Given the description of an element on the screen output the (x, y) to click on. 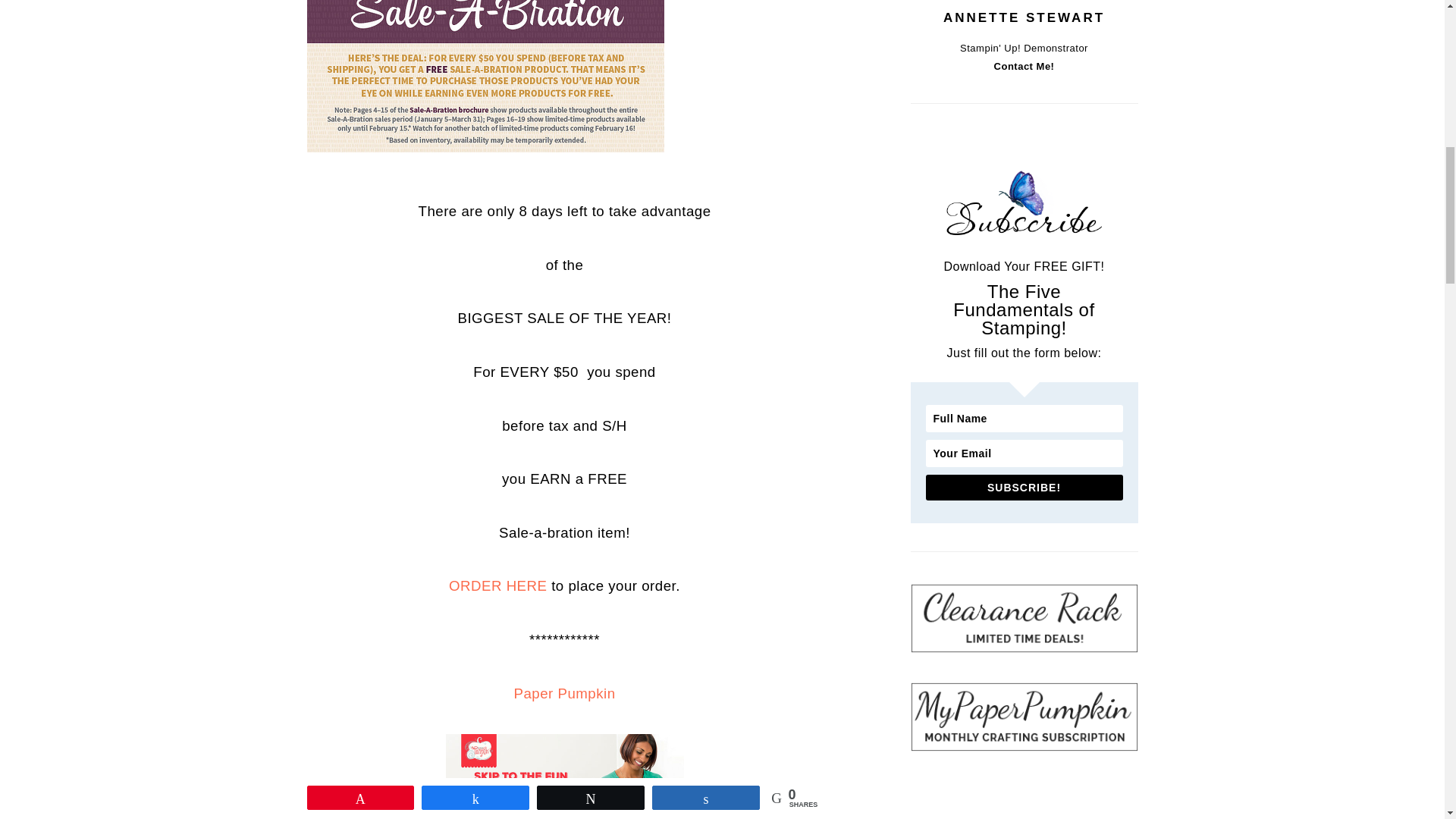
Paper Pumpkin (563, 693)
Earn FREE Sale-a-bration Sets (563, 693)
Sale-a-bration (484, 76)
ORDER HERE (497, 585)
